Given the description of an element on the screen output the (x, y) to click on. 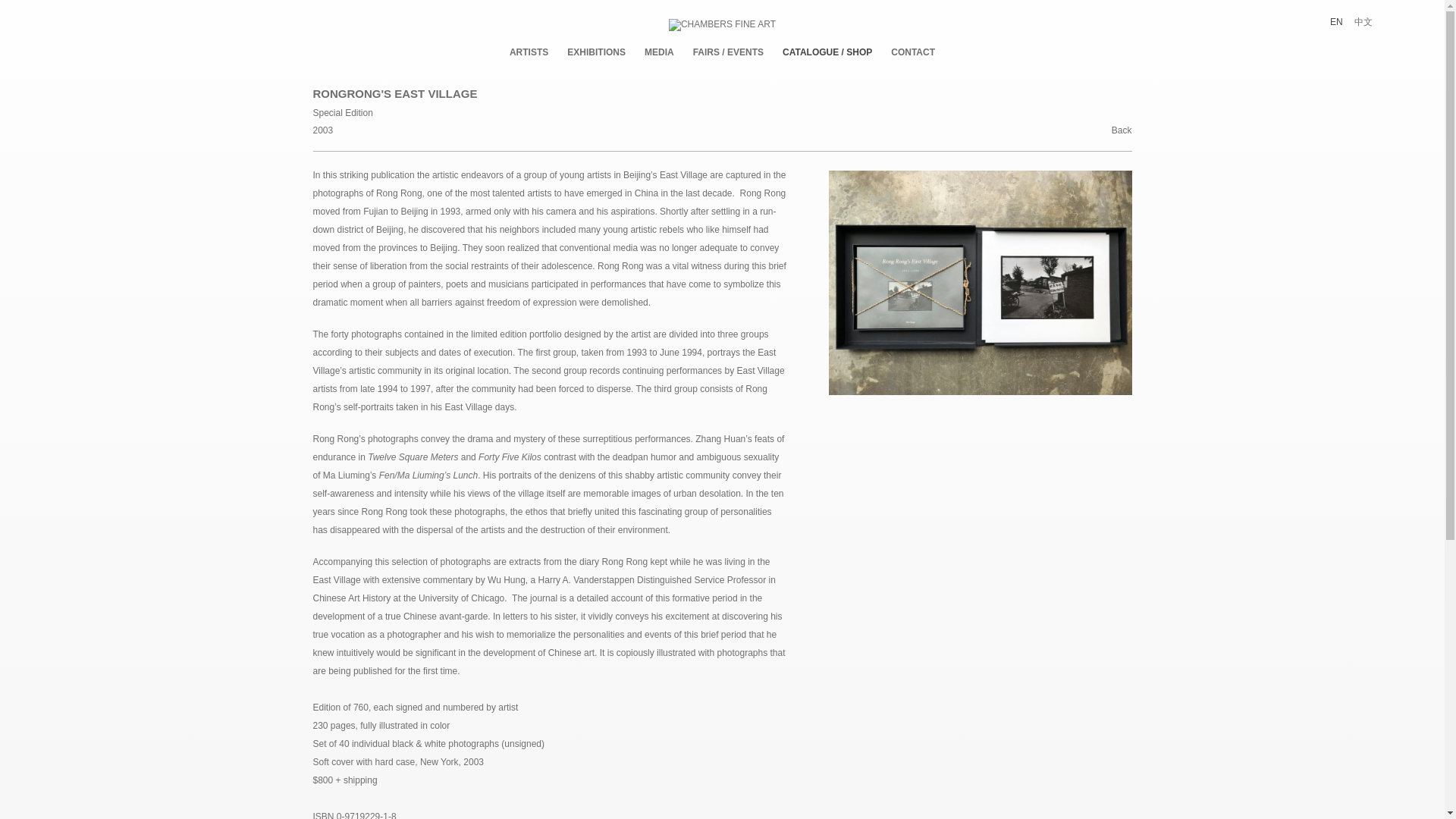
ARTISTS (528, 51)
EXHIBITIONS (596, 51)
MEDIA (659, 51)
EN (1336, 21)
Back (1122, 134)
CONTACT (912, 51)
